Given the description of an element on the screen output the (x, y) to click on. 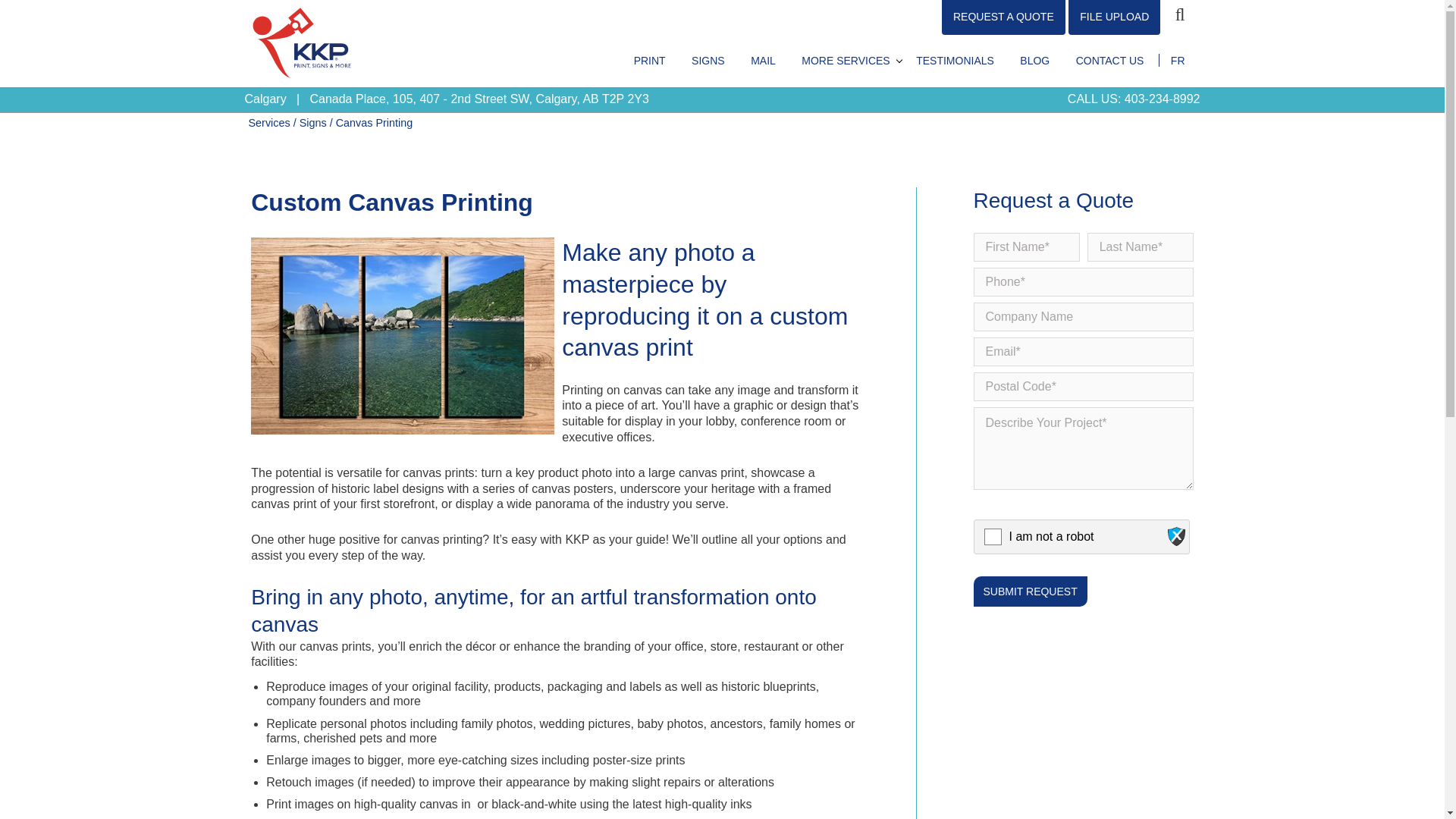
Signs (312, 122)
PRINT (650, 61)
Canada Place, 105, 407 - 2nd Street SW, Calgary, AB T2P 2Y3 (477, 98)
Services (268, 122)
TESTIMONIALS (955, 61)
CONTACT US (1110, 61)
FILE UPLOAD (1114, 17)
MAIL (763, 61)
REQUEST A QUOTE (1003, 17)
Submit Request (1030, 591)
MORE SERVICES (845, 61)
SIGNS (707, 61)
BLOG (1035, 61)
403-234-8992 (1161, 98)
